Given the description of an element on the screen output the (x, y) to click on. 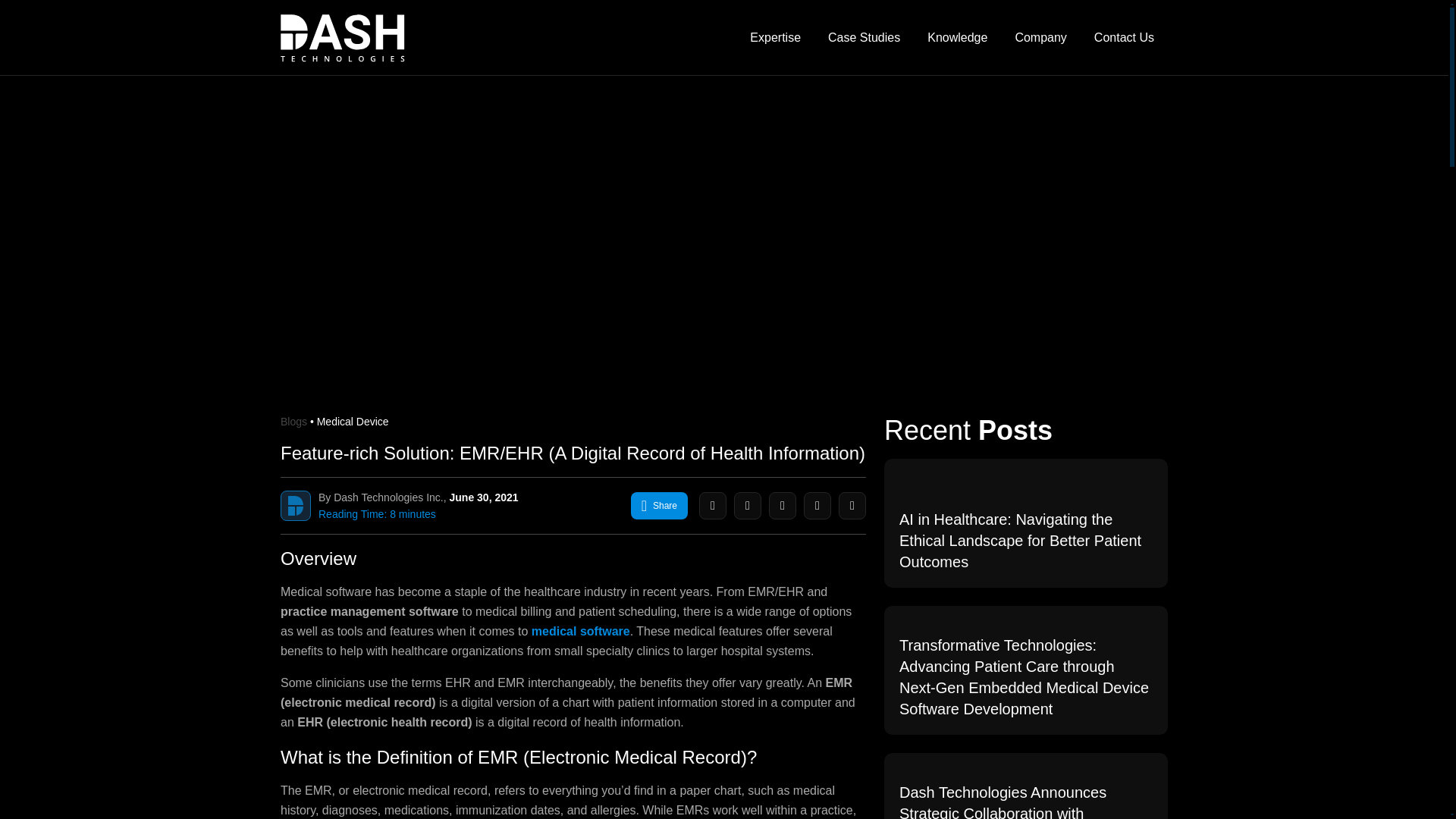
Expertise (774, 37)
Company (1039, 37)
Case Studies (863, 37)
Knowledge (957, 37)
Contact Us (1124, 37)
